Given the description of an element on the screen output the (x, y) to click on. 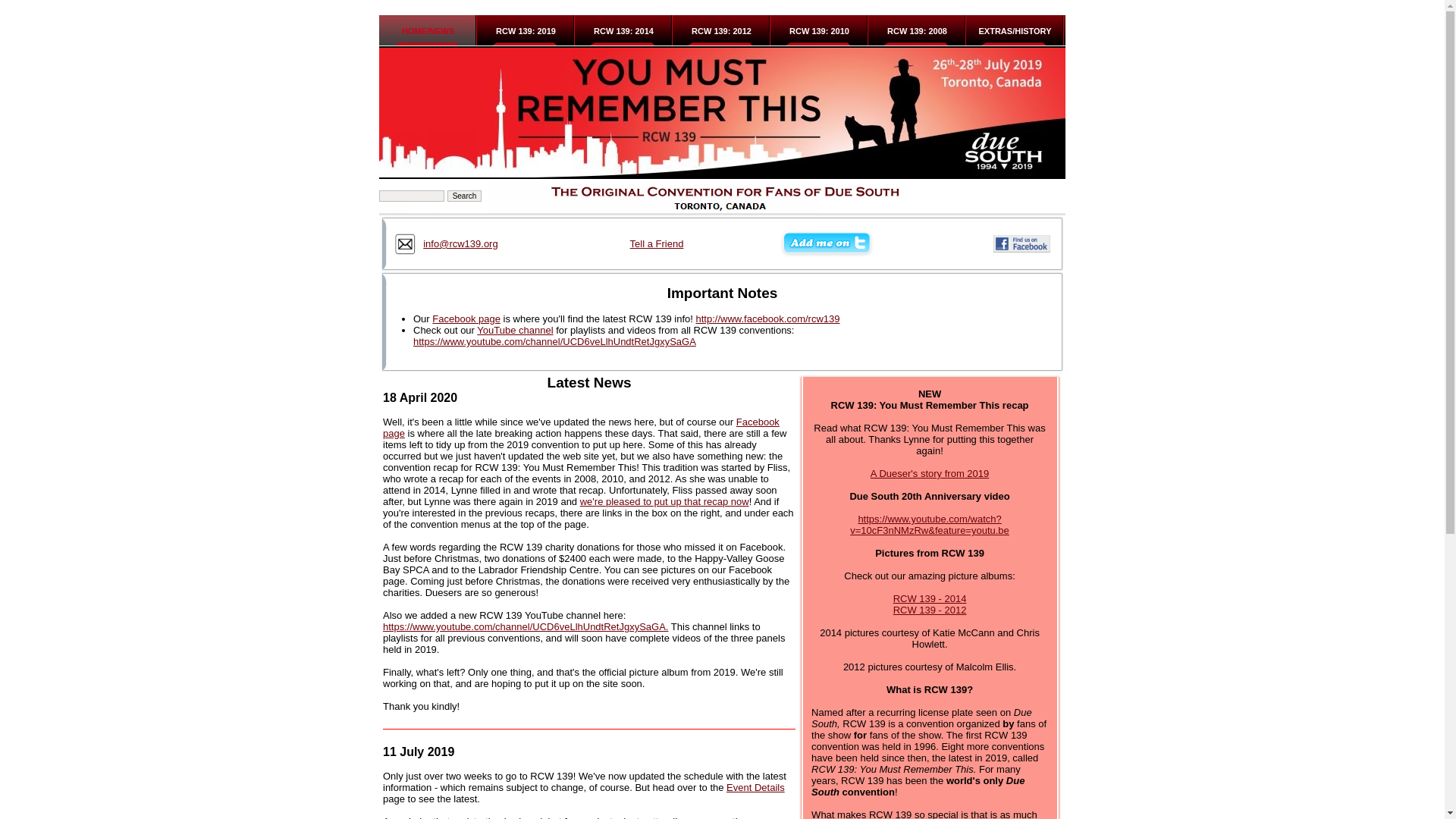
RCW 139: 2014 (623, 31)
RCW 139: 2008 (916, 31)
RCW 139: 2010 (818, 31)
Home (427, 31)
Search (463, 195)
RCW 139: 2012 (721, 31)
RCW 139: 2019 (526, 31)
